Given the description of an element on the screen output the (x, y) to click on. 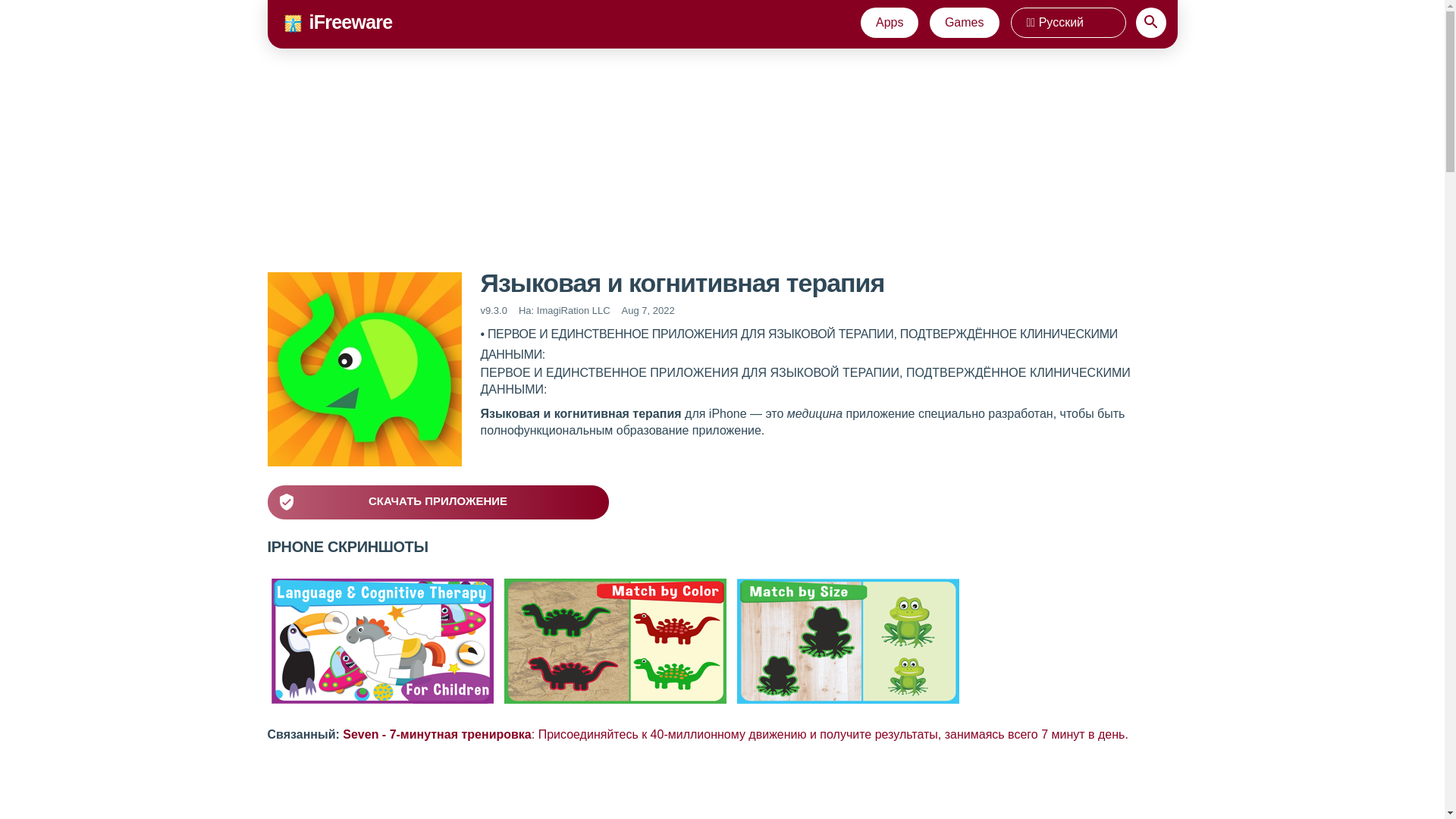
Advertisement (721, 785)
Apps (889, 22)
iFreeware (350, 21)
Games (964, 22)
